Given the description of an element on the screen output the (x, y) to click on. 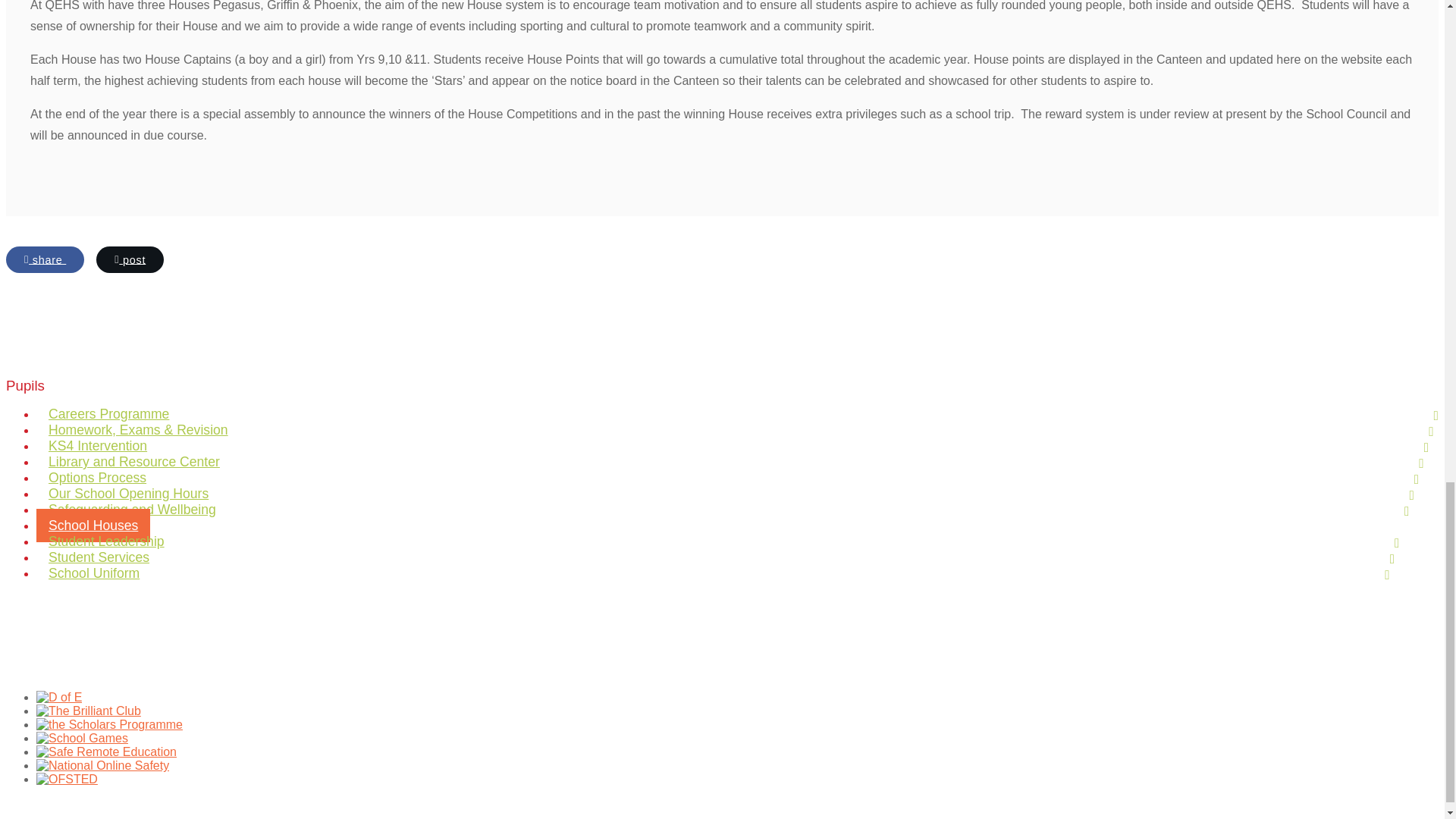
Post on X (129, 259)
School Games (82, 738)
OFSTED (66, 779)
The Brilliant Club (88, 710)
National Online Safety (102, 765)
D of E (58, 697)
the Scholars Programme (109, 724)
Share on Facebook (44, 259)
Safe Remote Education (106, 751)
